Given the description of an element on the screen output the (x, y) to click on. 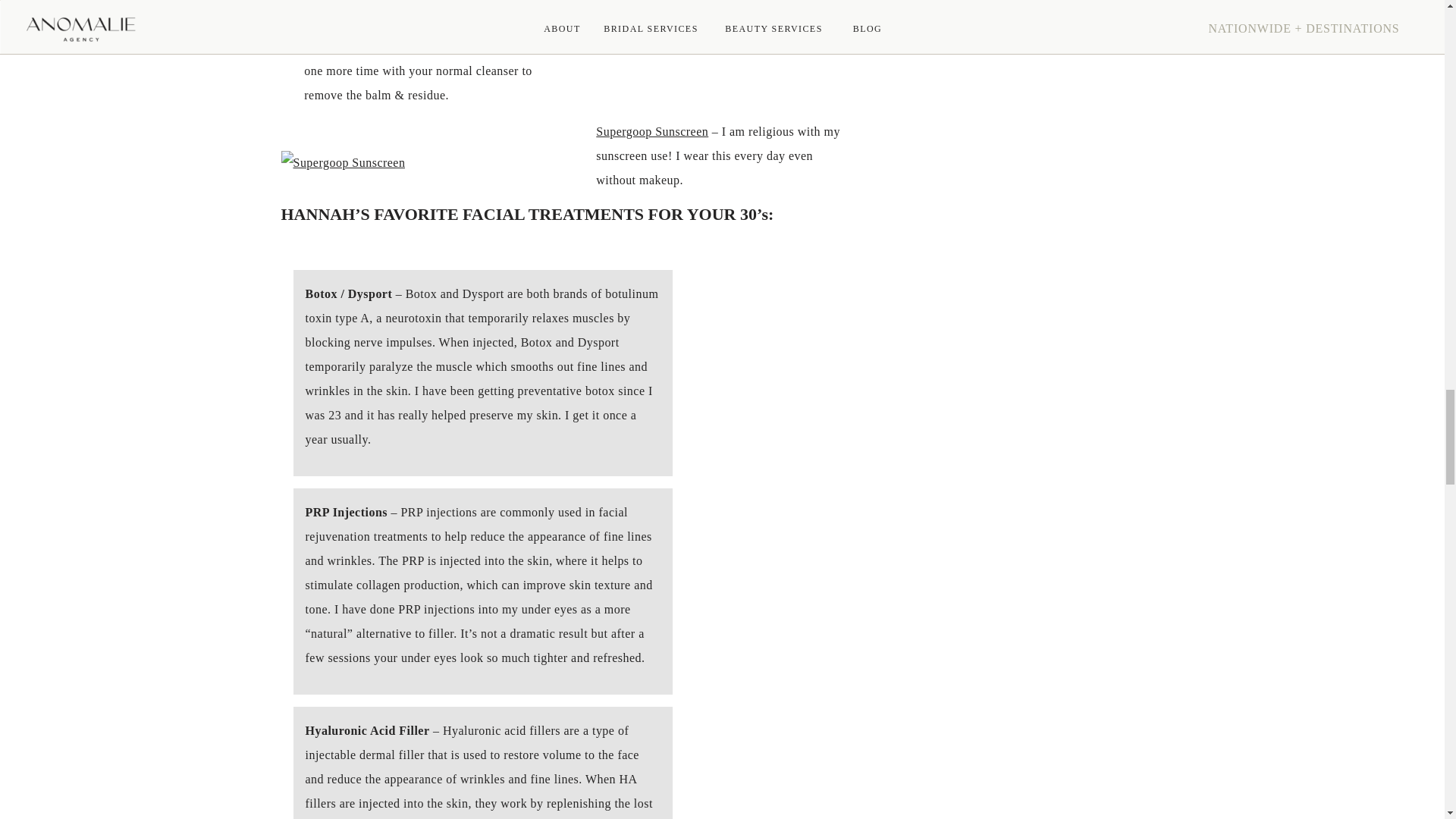
Supergoop Sunscreen (651, 131)
